Given the description of an element on the screen output the (x, y) to click on. 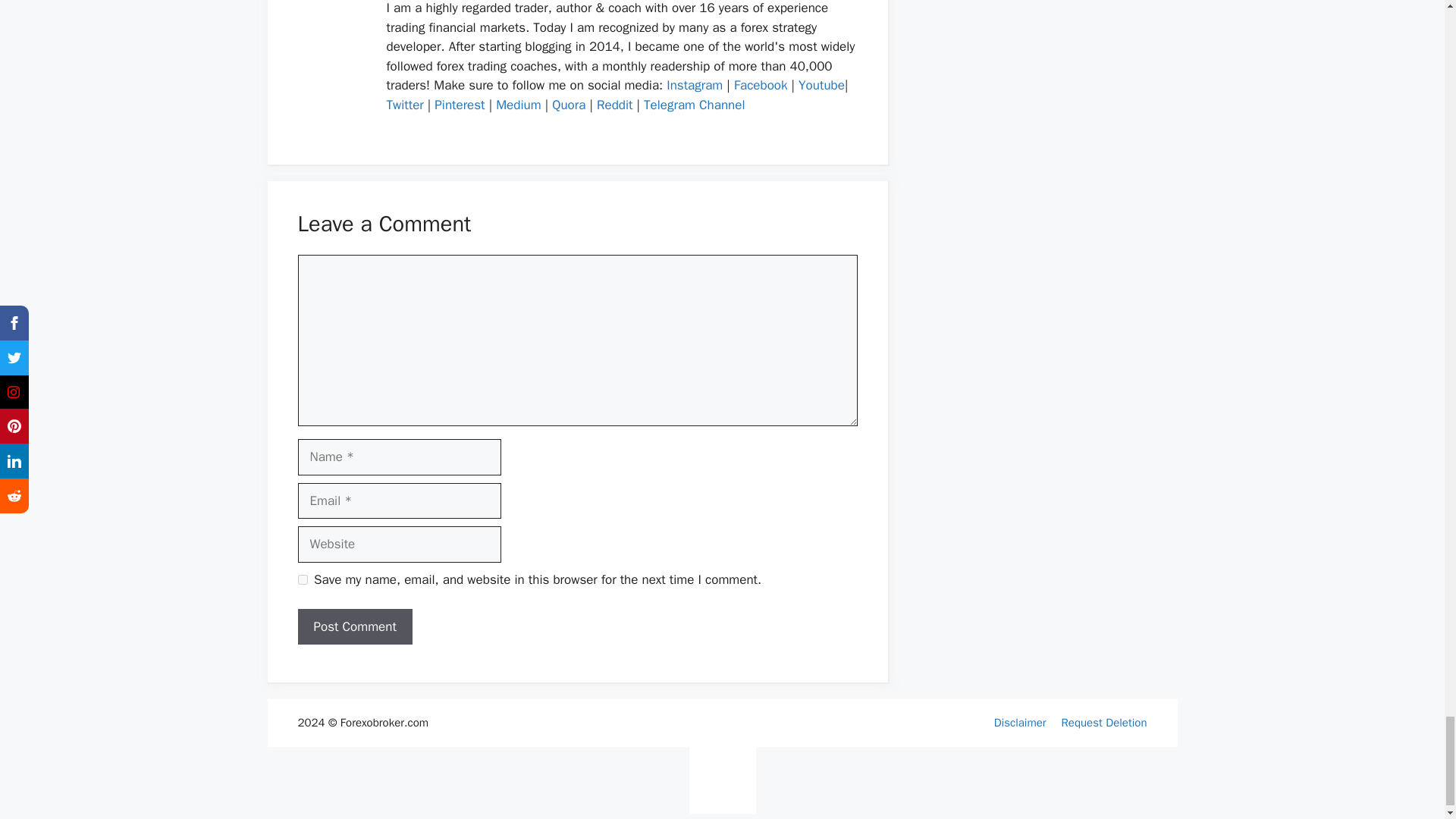
Post Comment (354, 627)
yes (302, 579)
